Given the description of an element on the screen output the (x, y) to click on. 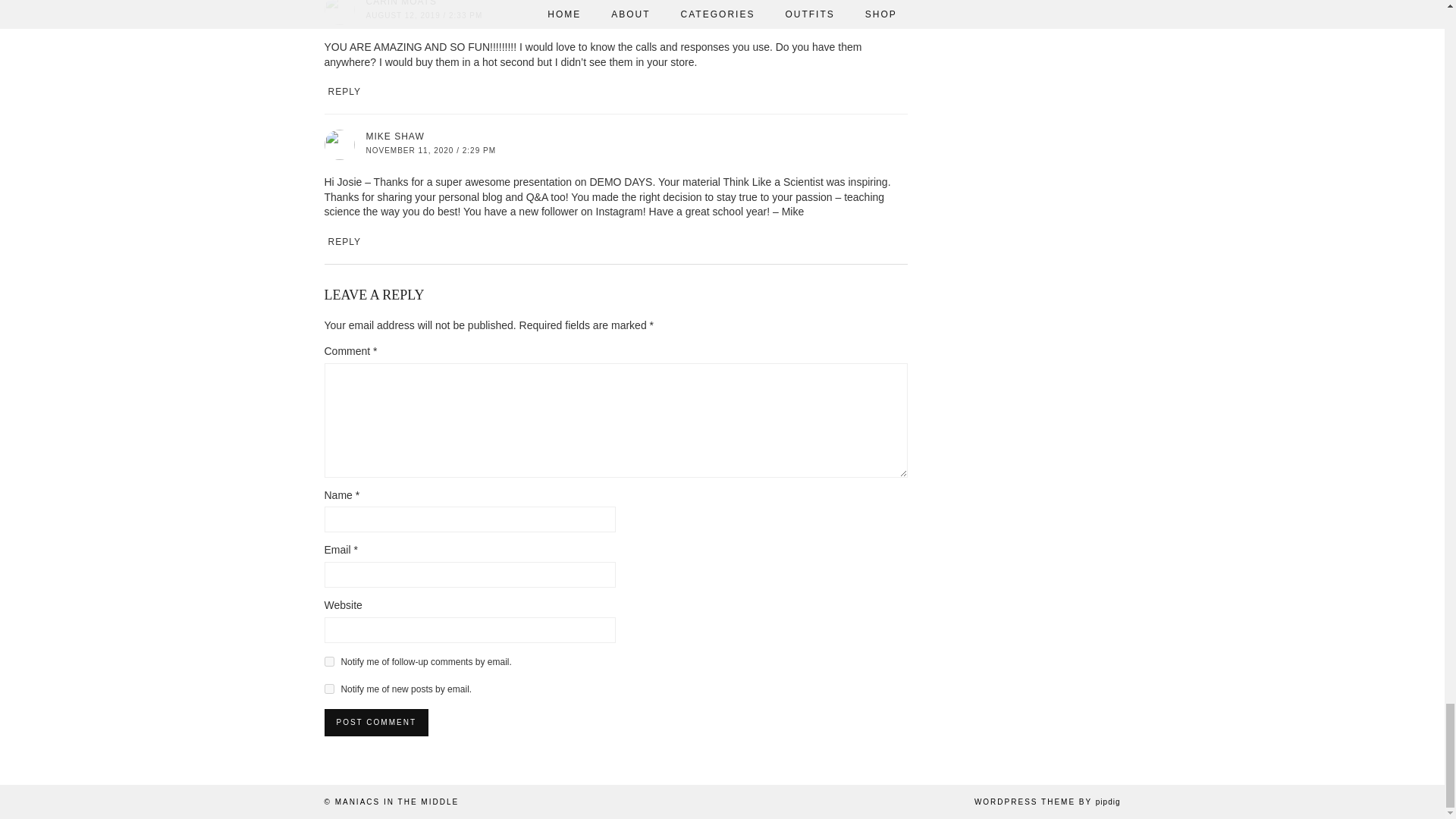
Post Comment (376, 722)
subscribe (329, 661)
subscribe (329, 688)
